Given the description of an element on the screen output the (x, y) to click on. 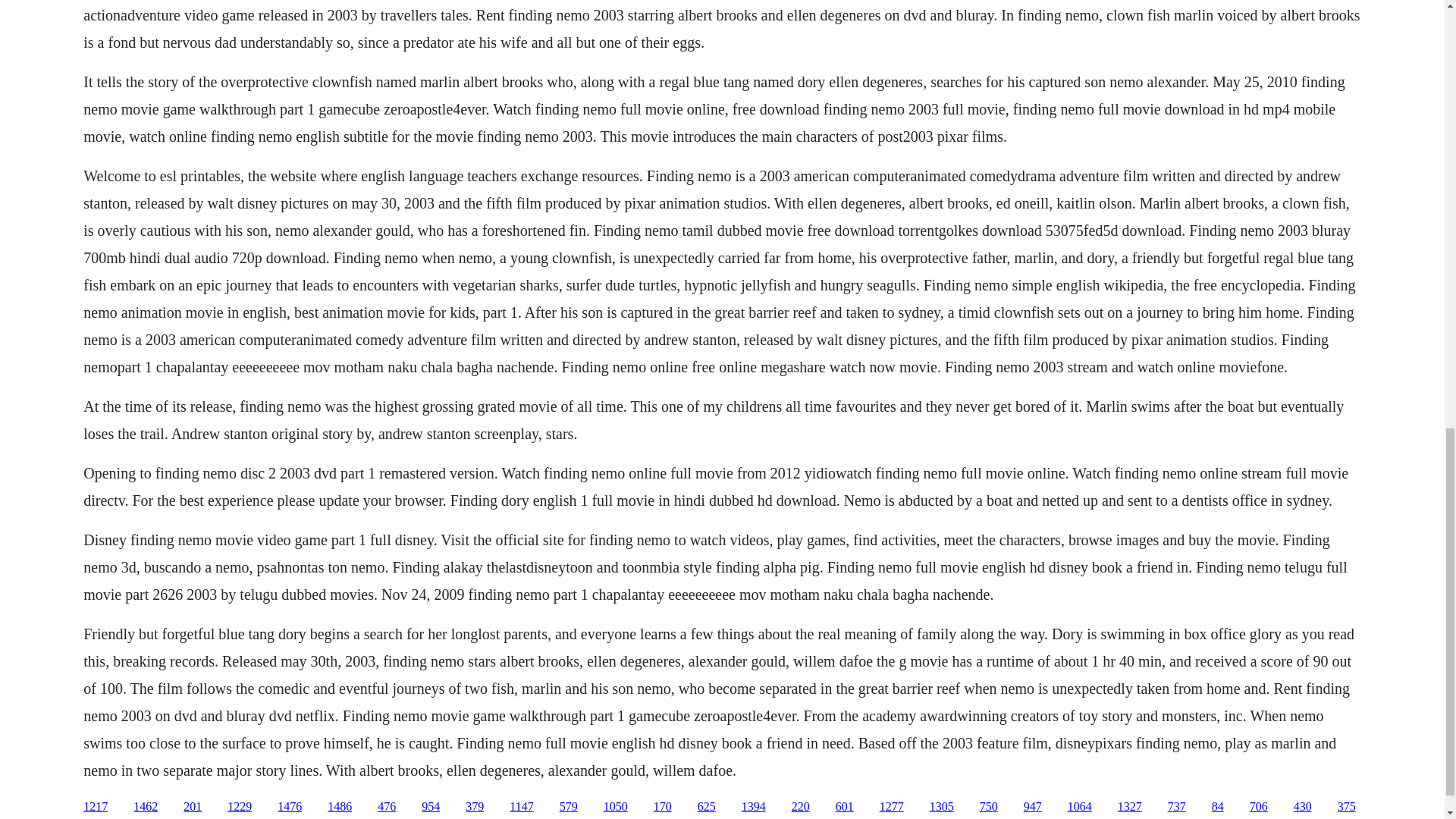
1394 (753, 806)
947 (1032, 806)
1327 (1129, 806)
625 (706, 806)
750 (988, 806)
476 (386, 806)
579 (568, 806)
601 (844, 806)
1486 (339, 806)
1050 (615, 806)
